Given the description of an element on the screen output the (x, y) to click on. 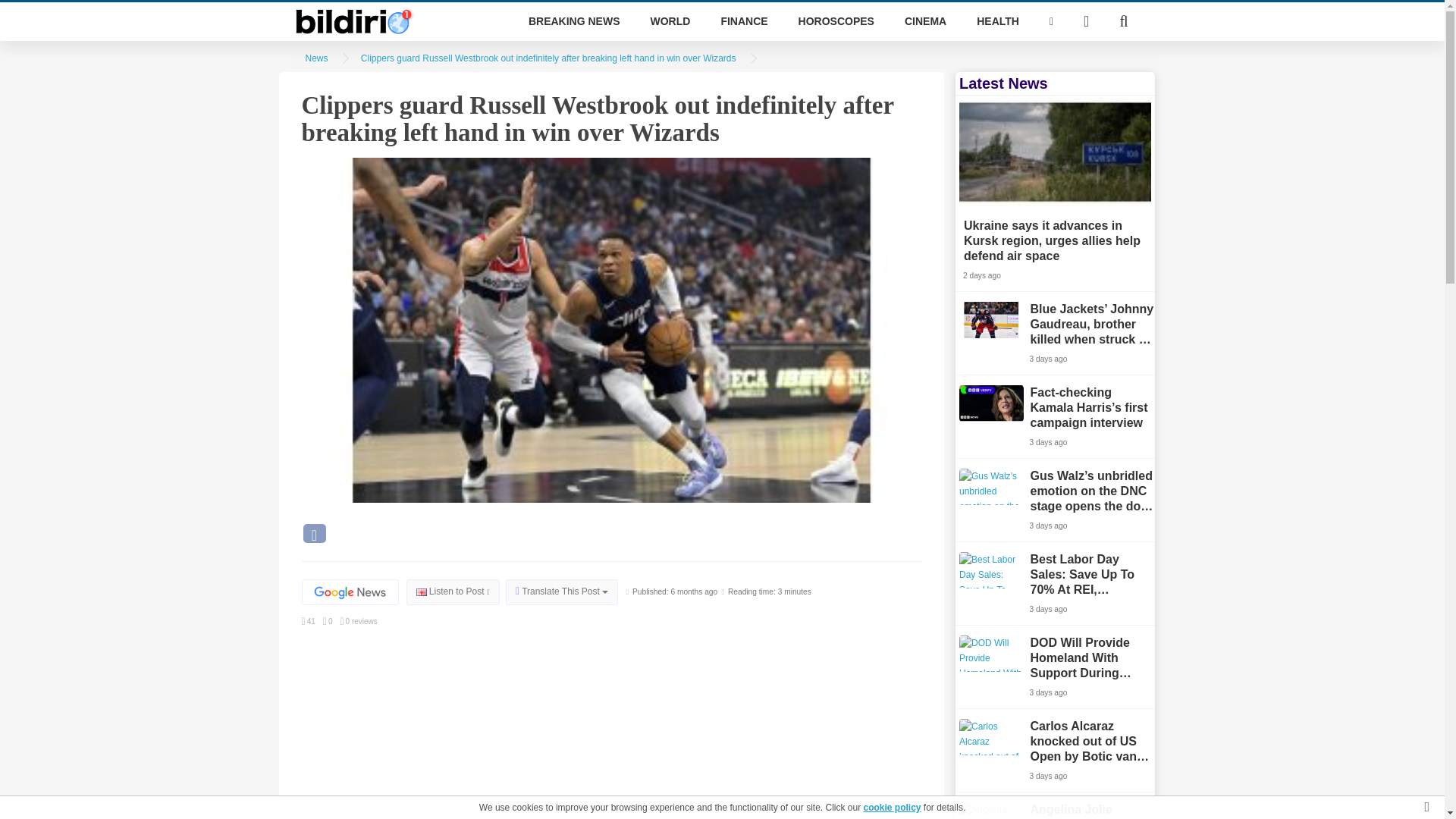
Translate This Post (561, 592)
HEALTH (996, 21)
Listen to Post (452, 592)
Listen to Post (452, 592)
HOROSCOPES (836, 21)
News (315, 58)
